Given the description of an element on the screen output the (x, y) to click on. 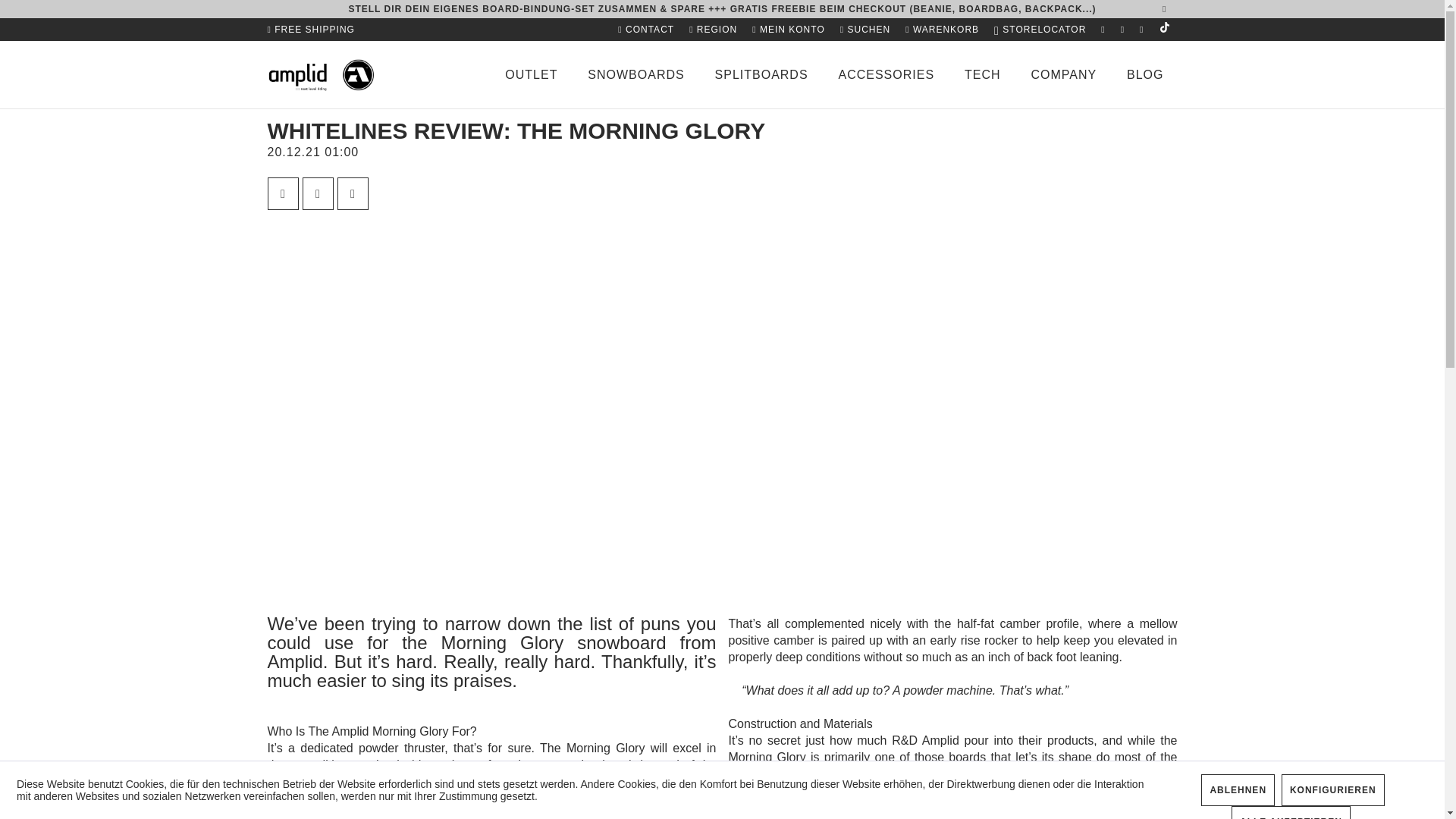
Warenkorb (942, 29)
OUTLET (531, 74)
TikTok (1163, 29)
COMPANY (1062, 74)
Schliessen (1168, 9)
SNOWBOARDS (635, 74)
SPLITBOARDS (761, 74)
YouTube (1141, 29)
TECH (982, 74)
ACCESSORIES (885, 74)
Mein Konto (788, 29)
SUCHEN (865, 29)
Storelocator (812, 74)
ACCESSORIES (1040, 29)
